Given the description of an element on the screen output the (x, y) to click on. 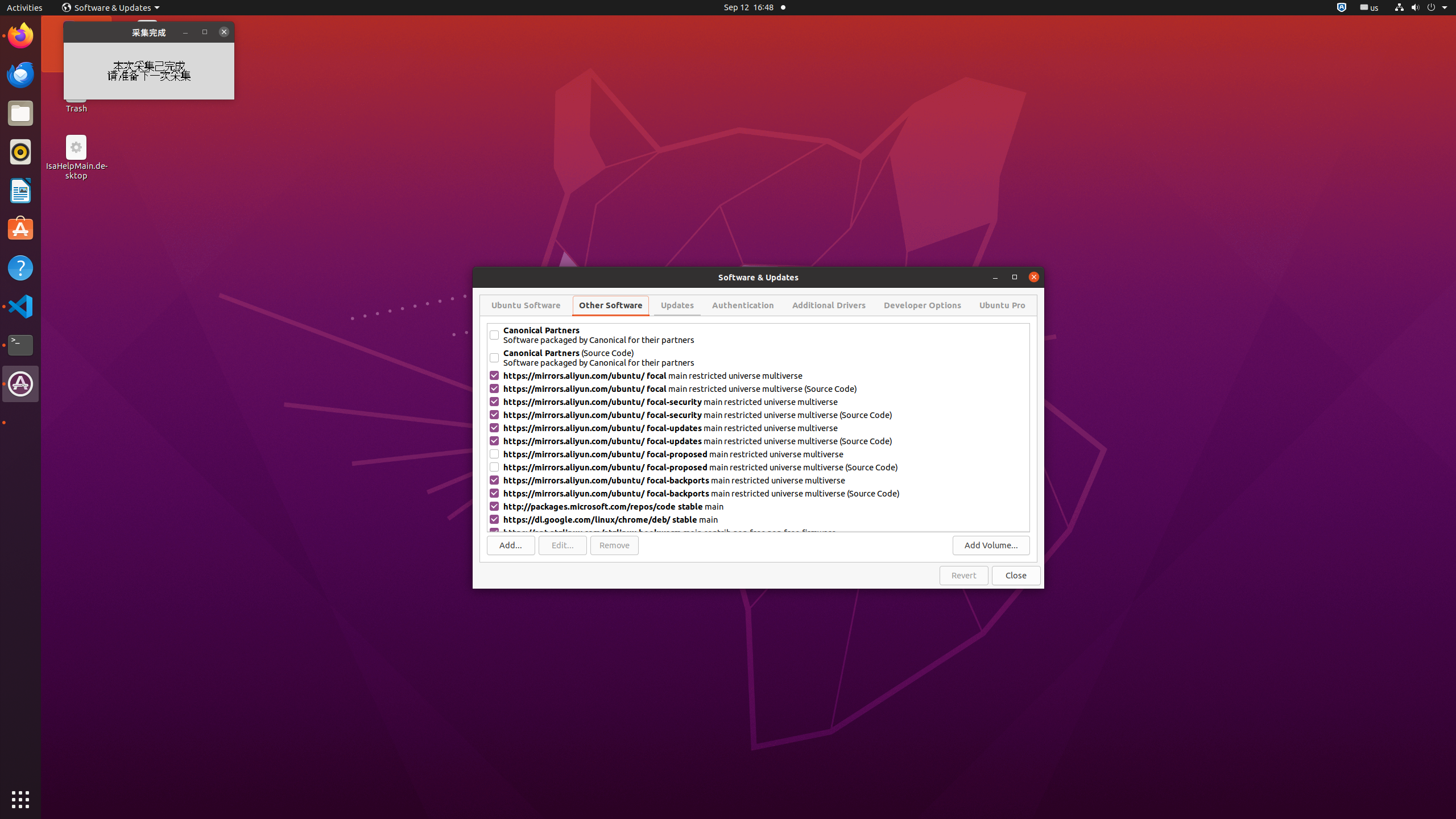
Ubuntu Pro Element type: page-tab (1002, 304)
Tk Element type: push-button (20, 422)
Authentication Element type: page-tab (743, 304)
Updates Element type: page-tab (676, 304)
